Given the description of an element on the screen output the (x, y) to click on. 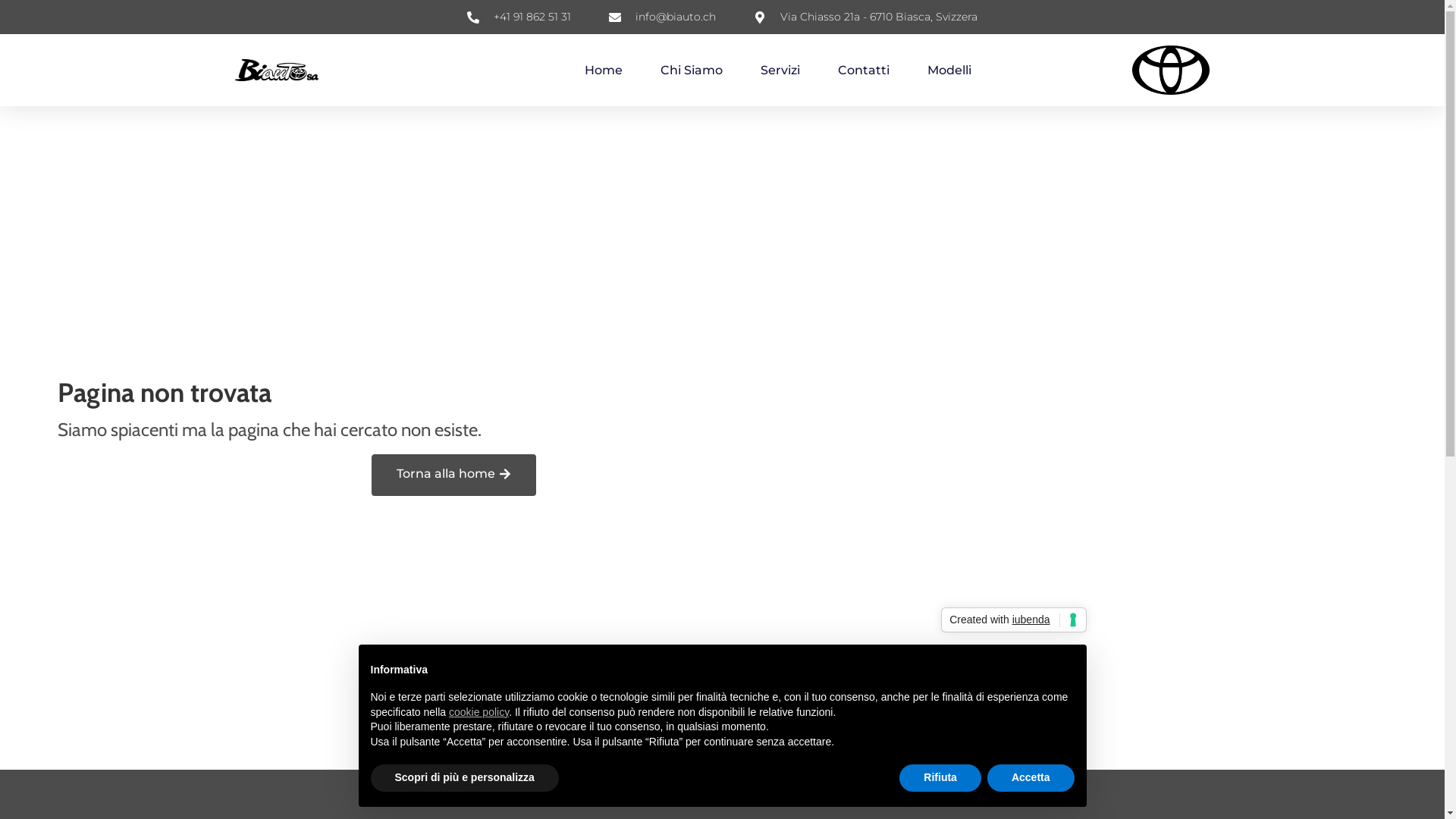
Chi Siamo Element type: text (691, 70)
Modelli Element type: text (949, 70)
cookie policy Element type: text (478, 712)
Torna alla home Element type: text (453, 474)
Rifiuta Element type: text (940, 777)
Created with iubenda Element type: text (1013, 620)
Accetta Element type: text (1030, 777)
Home Element type: text (603, 70)
Servizi Element type: text (780, 70)
Contatti Element type: text (863, 70)
